Given the description of an element on the screen output the (x, y) to click on. 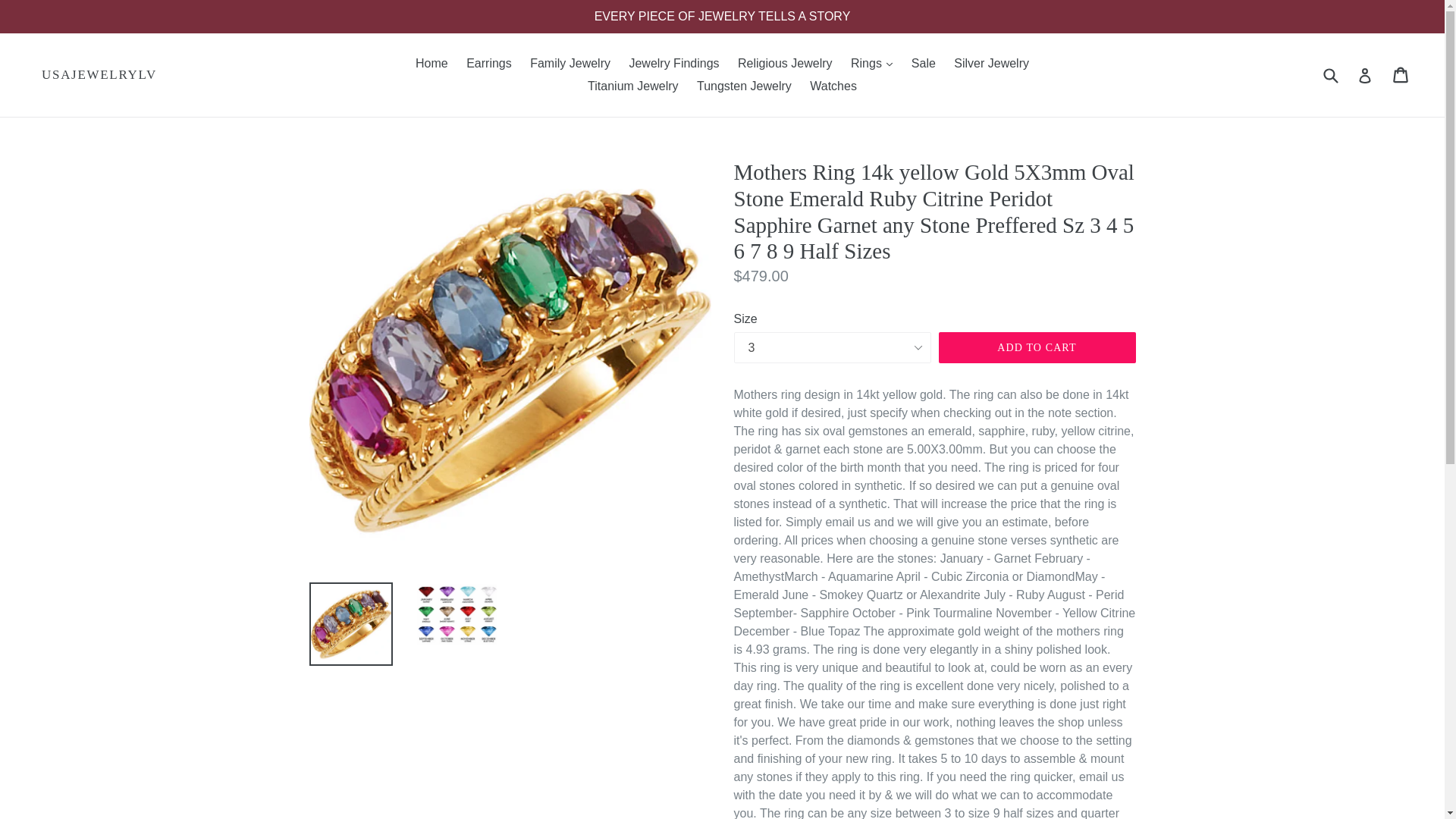
Jewelry Findings (673, 63)
Family Jewelry (569, 63)
USAJEWELRYLV (99, 74)
Watches (833, 86)
Titanium Jewelry (632, 86)
Tungsten Jewelry (743, 86)
Sale (923, 63)
Home (431, 63)
Earrings (488, 63)
Religious Jewelry (785, 63)
